Given the description of an element on the screen output the (x, y) to click on. 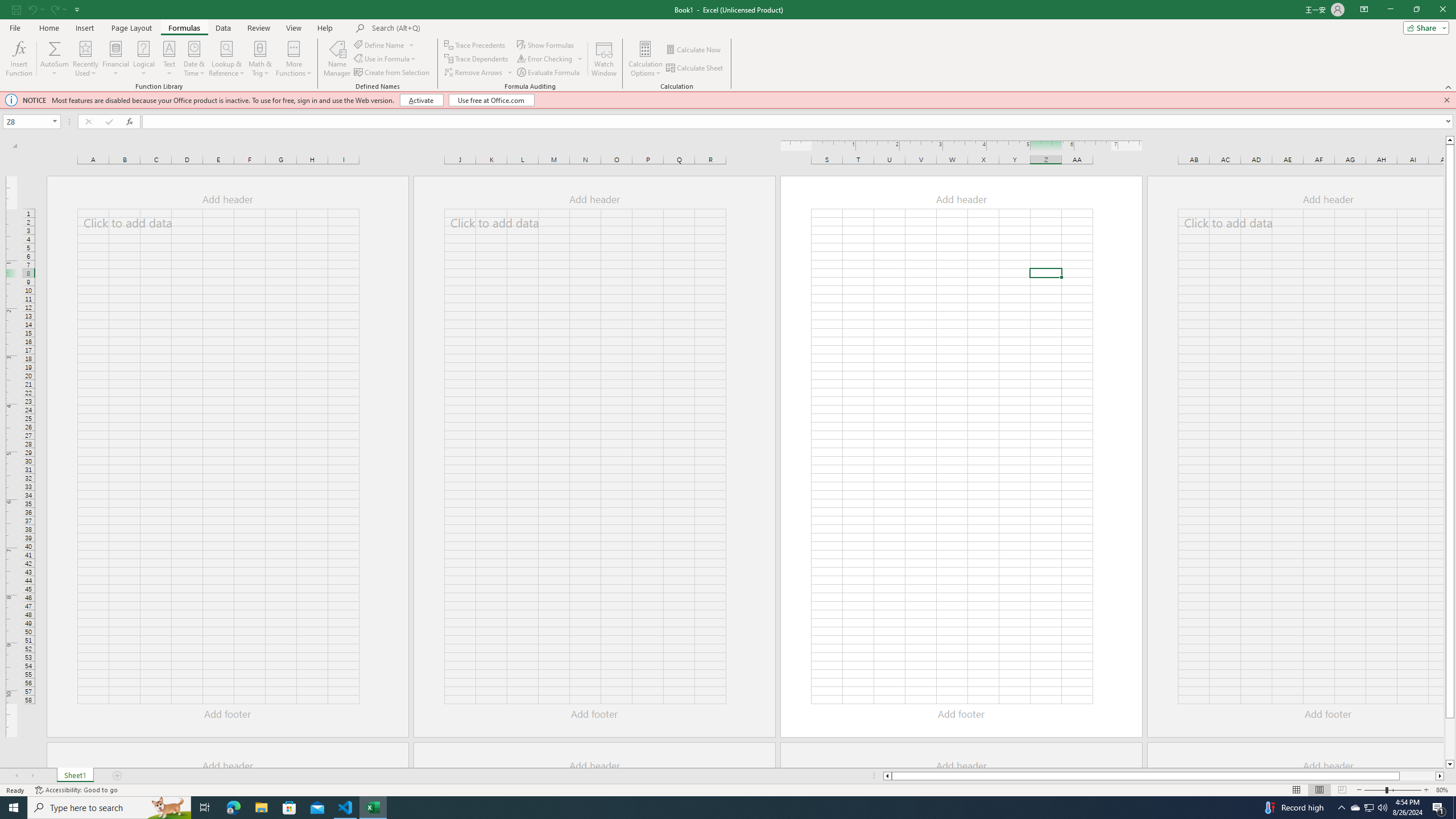
Activate (422, 100)
Close this message (1446, 99)
Remove Arrows (474, 72)
